Given the description of an element on the screen output the (x, y) to click on. 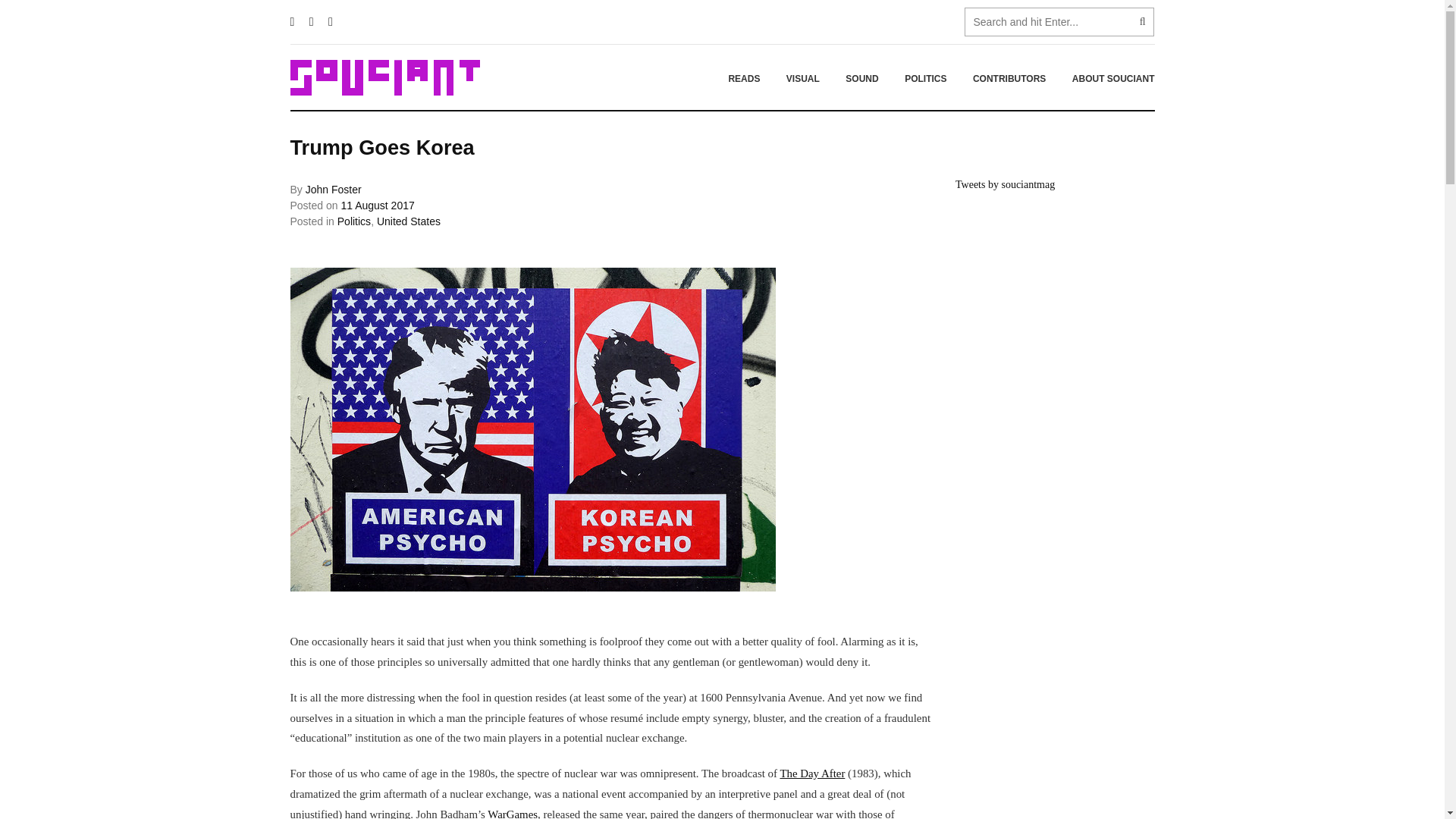
John Foster (333, 189)
Tweets by souciantmag (1004, 184)
United States (409, 221)
VISUAL (802, 78)
Politics (354, 221)
READS (743, 78)
POLITICS (925, 78)
Souciant (384, 77)
CONTRIBUTORS (1008, 78)
11 August 2017 (376, 205)
ABOUT SOUCIANT (1107, 78)
The Day After (811, 773)
SOUND (861, 78)
WarGames (512, 813)
